Given the description of an element on the screen output the (x, y) to click on. 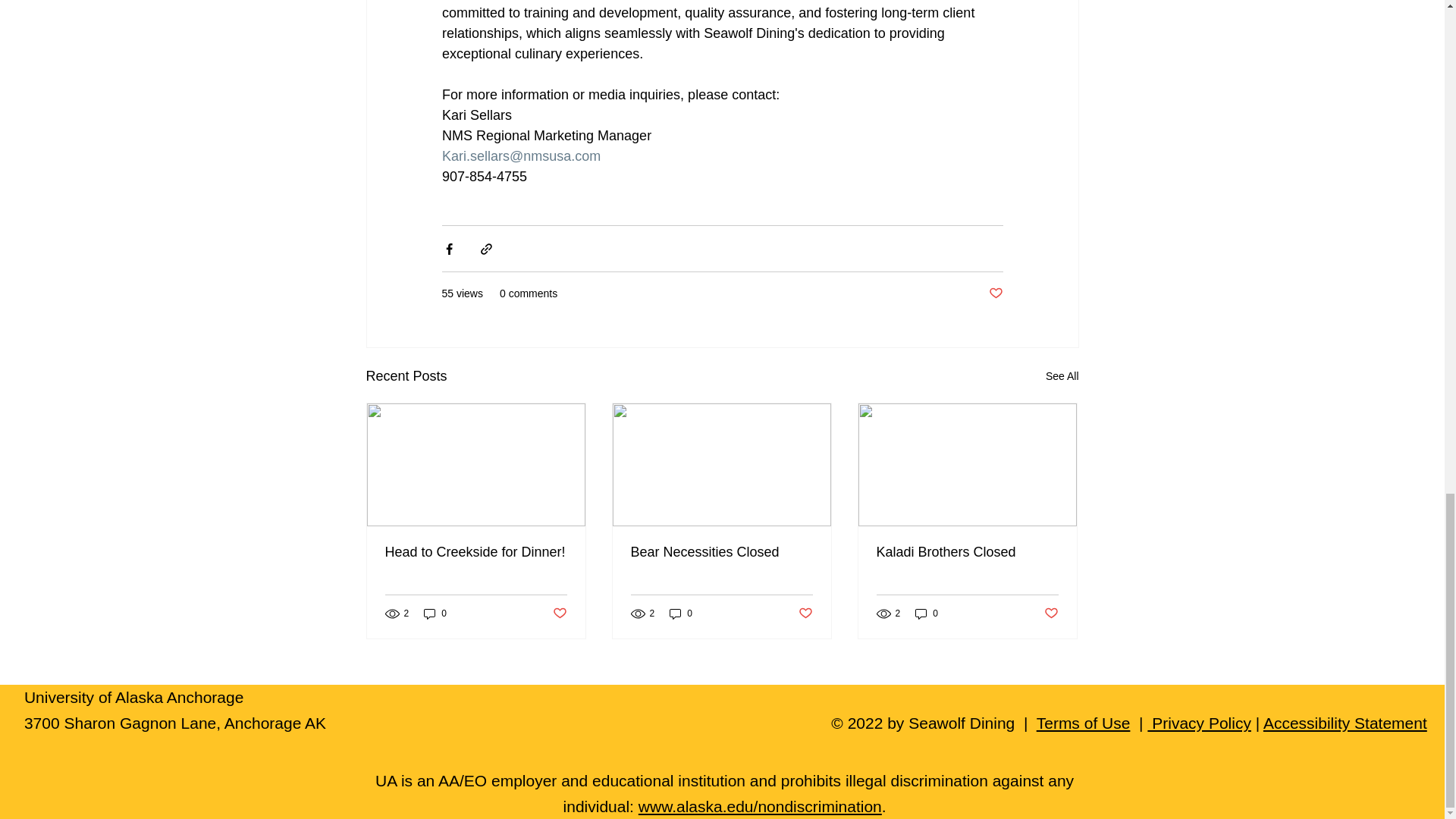
Head to Creekside for Dinner! (476, 552)
0 (926, 613)
See All (1061, 376)
Accessibility Statement (1344, 723)
Post not marked as liked (1050, 613)
 Privacy Policy (1198, 723)
Bear Necessities Closed (721, 552)
Terms of Use (1083, 723)
Post not marked as liked (995, 293)
Kaladi Brothers Closed (967, 552)
